Given the description of an element on the screen output the (x, y) to click on. 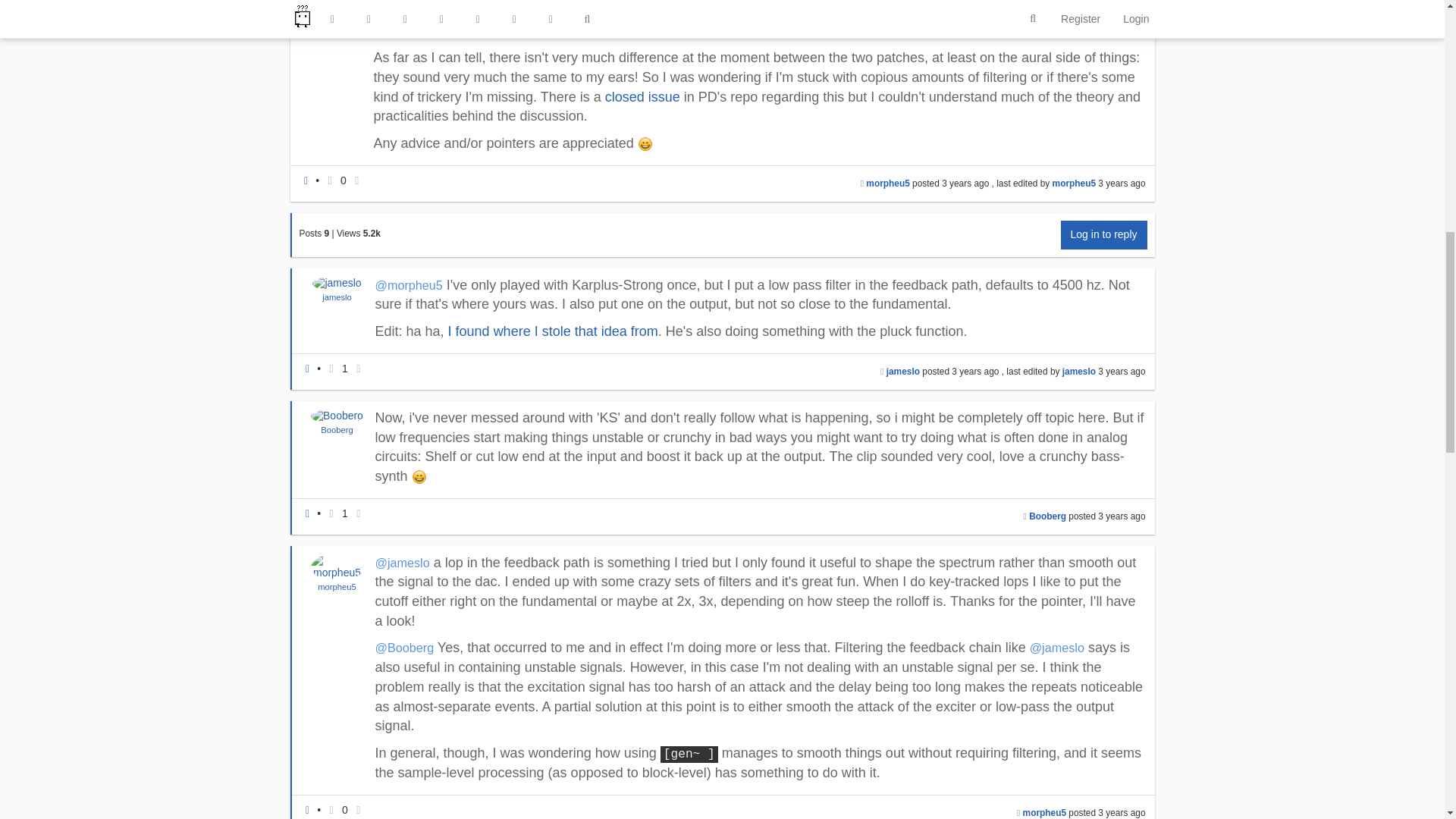
Log in to reply (1104, 234)
morpheu5 (887, 183)
morpheu5 (1074, 183)
closed issue (642, 96)
